Given the description of an element on the screen output the (x, y) to click on. 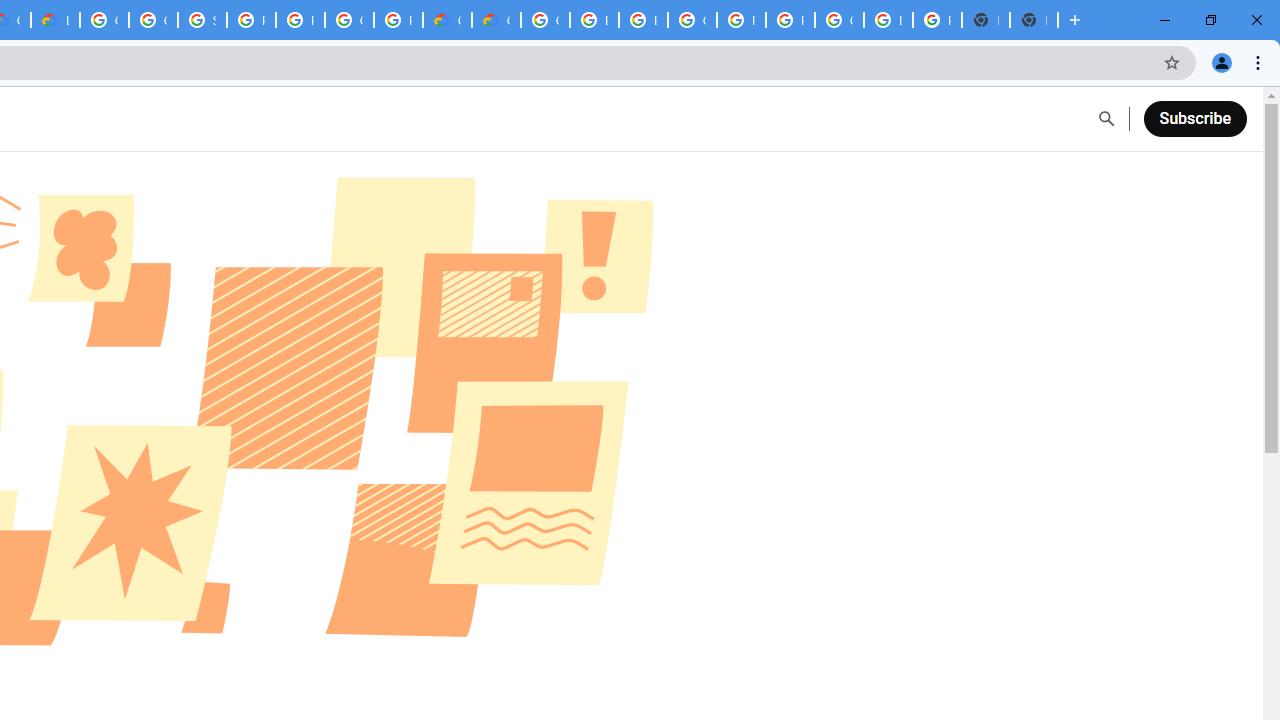
Subscribe (1194, 118)
Google Cloud Platform (104, 20)
Google Cloud Platform (545, 20)
New Tab (1033, 20)
Google Cloud Platform (692, 20)
